Given the description of an element on the screen output the (x, y) to click on. 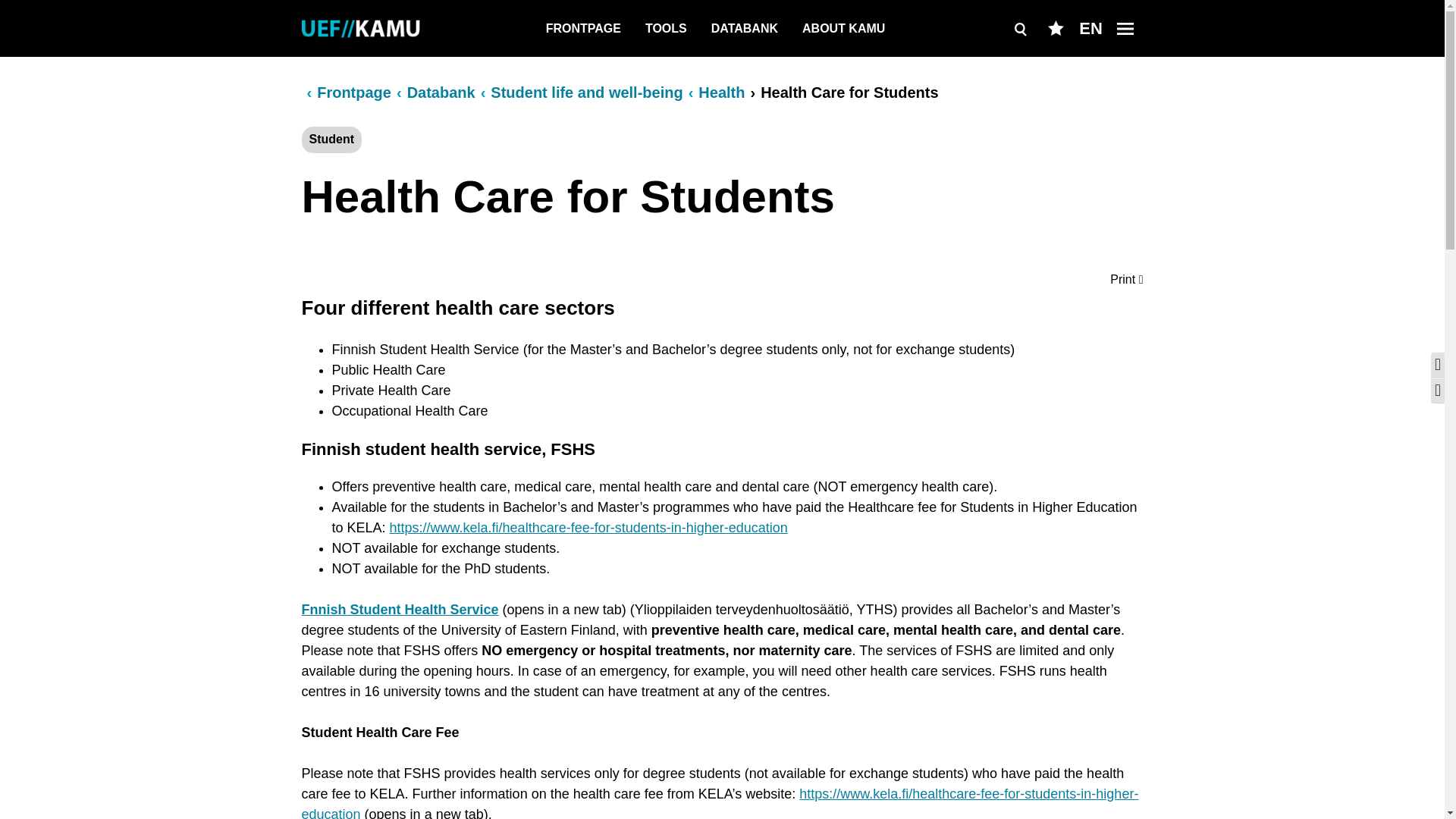
FRONTPAGE (583, 31)
ABOUT KAMU (843, 31)
TOOLS (666, 31)
DATABANK (744, 31)
Health Care for Students (848, 91)
